Given the description of an element on the screen output the (x, y) to click on. 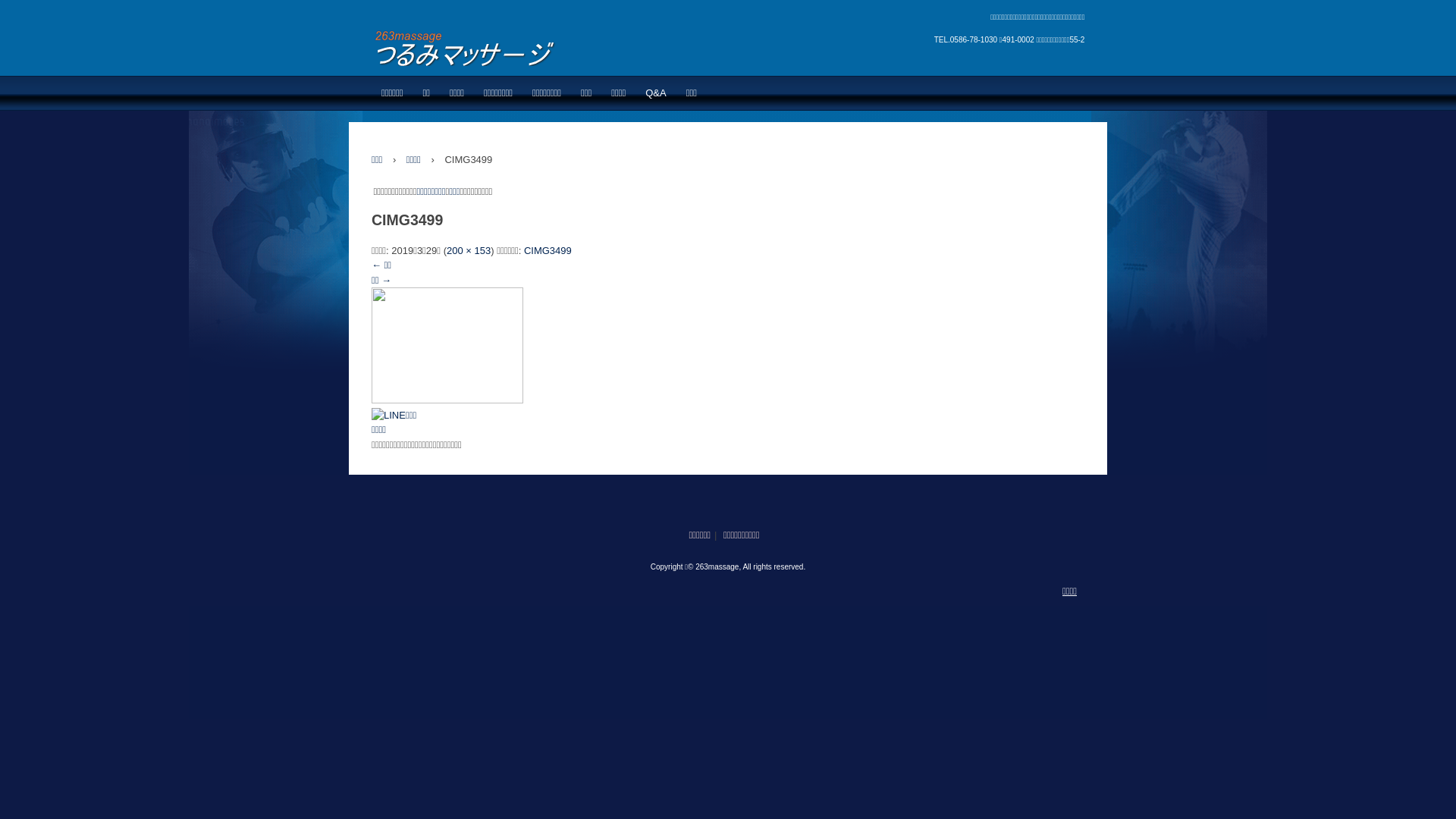
CIMG3499 Element type: text (547, 250)
Q&A Element type: text (655, 92)
CIMG3499 Element type: hover (447, 399)
